Given the description of an element on the screen output the (x, y) to click on. 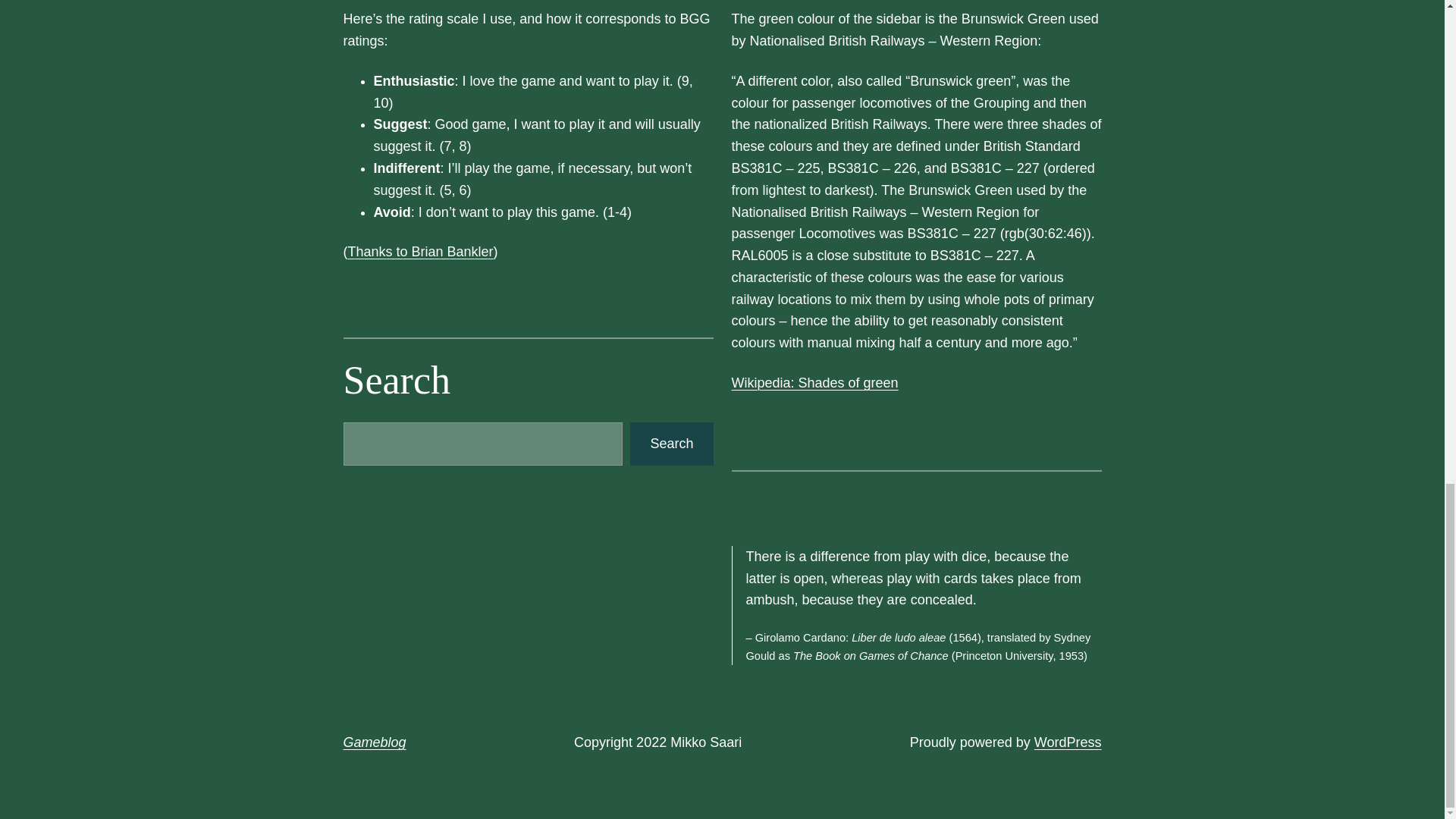
Thanks to Brian Bankler (420, 251)
Gameblog (374, 742)
WordPress (1067, 742)
Wikipedia: Shades of green (814, 382)
Search (671, 444)
